Given the description of an element on the screen output the (x, y) to click on. 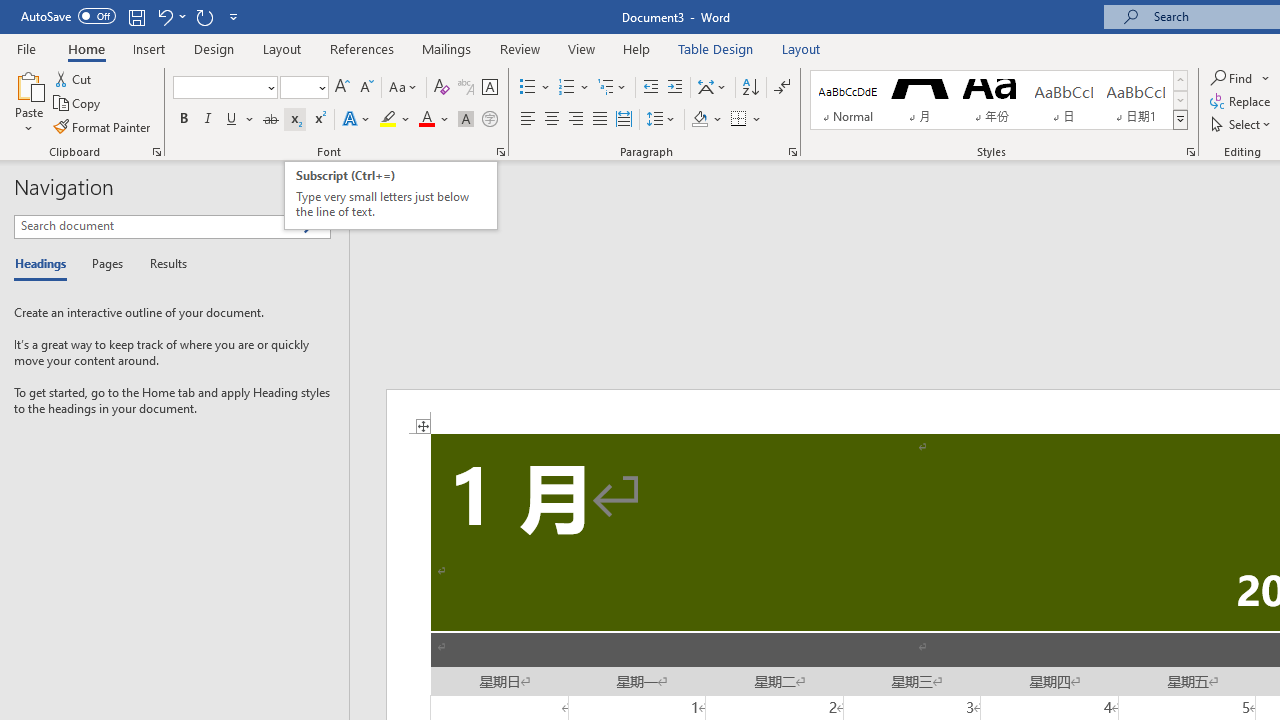
Clear Formatting (442, 87)
Justify (599, 119)
Phonetic Guide... (465, 87)
Table Design (715, 48)
Row Down (1179, 100)
Styles (1179, 120)
